Given the description of an element on the screen output the (x, y) to click on. 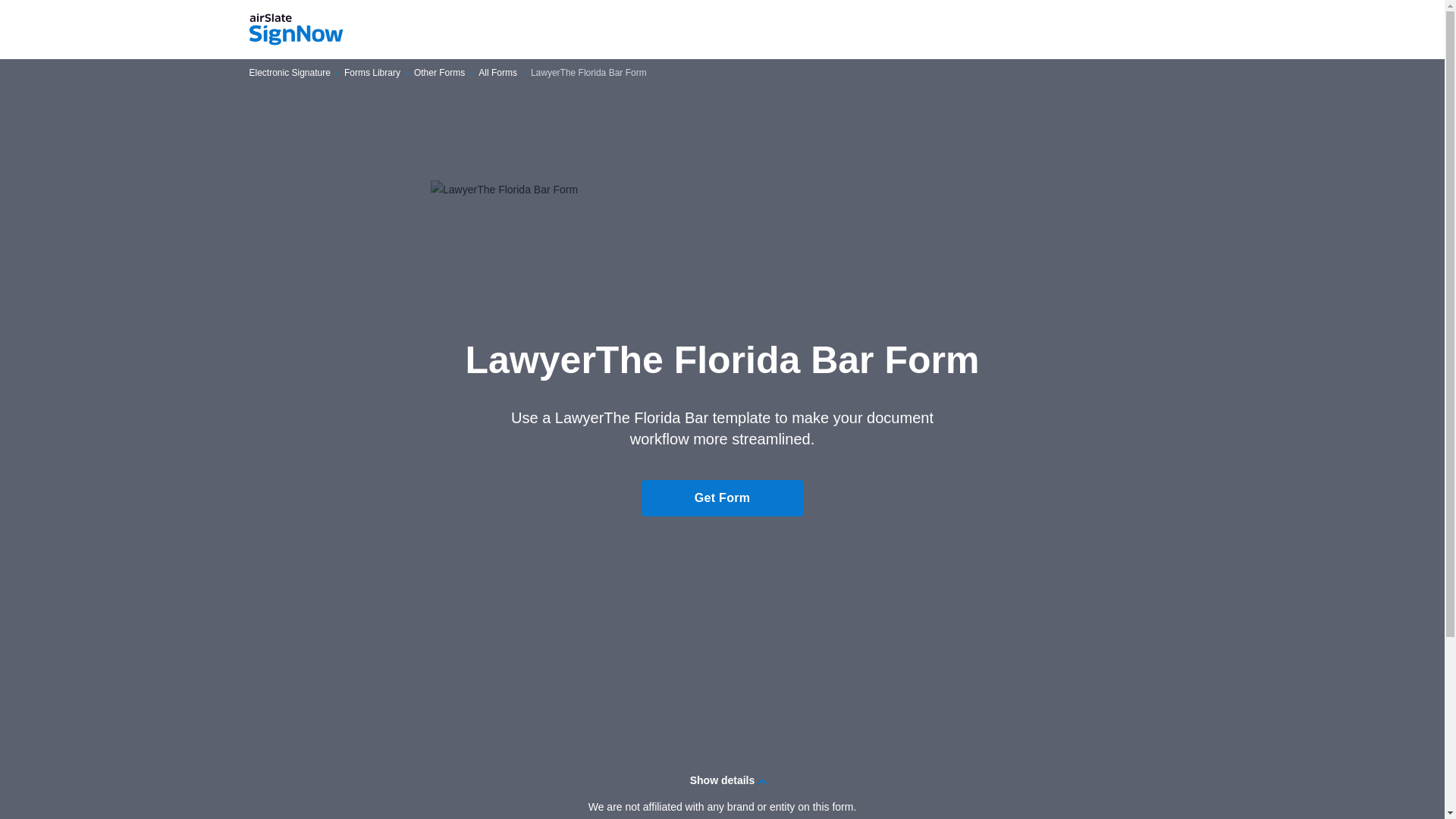
Get Form (722, 497)
All Forms (497, 73)
signNow (295, 29)
Other Forms (438, 73)
Electronic Signature (289, 73)
Forms Library (371, 73)
Show details (722, 780)
